Given the description of an element on the screen output the (x, y) to click on. 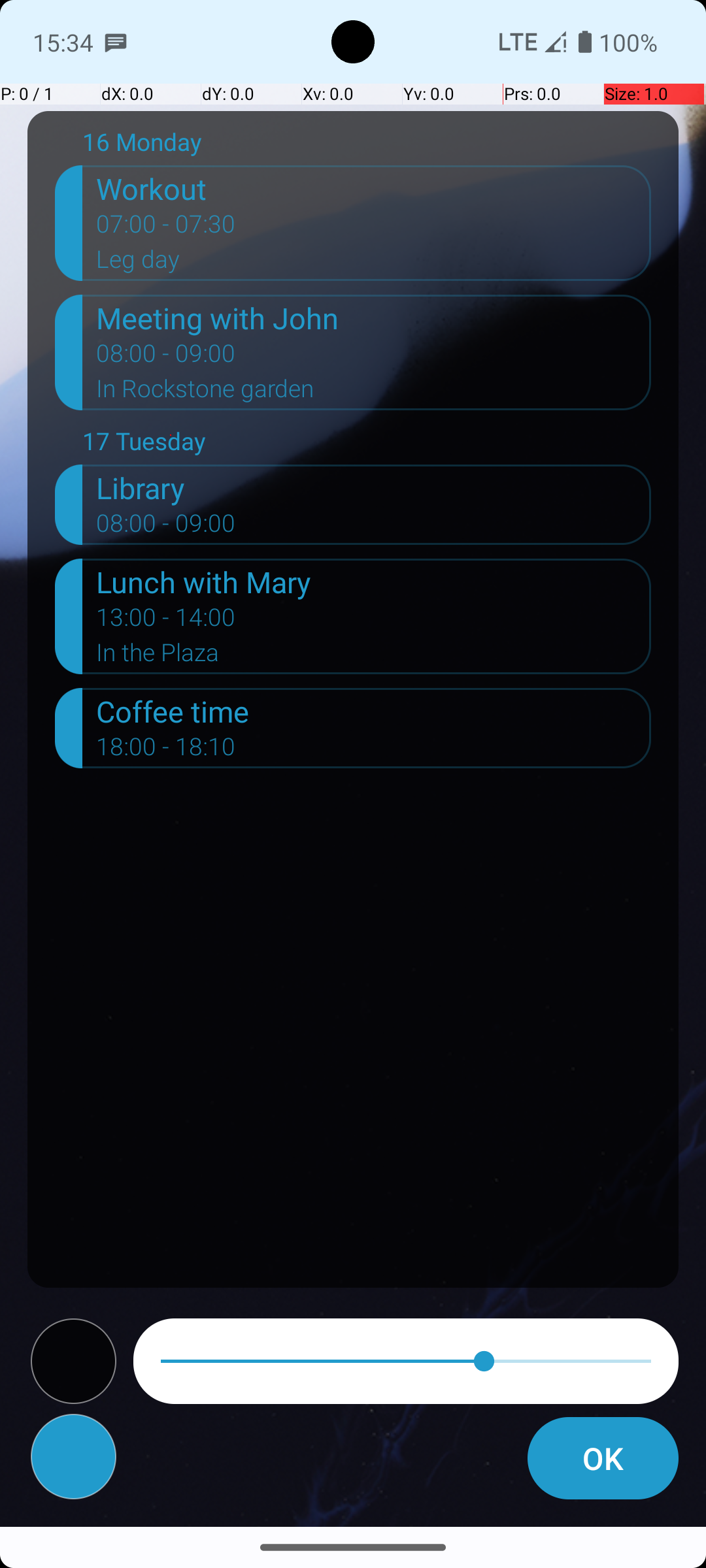
Workout Element type: android.widget.TextView (373, 187)
07:00 - 07:30 Element type: android.widget.TextView (165, 227)
Leg day Element type: android.widget.TextView (373, 262)
Meeting with John Element type: android.widget.TextView (373, 316)
08:00 - 09:00 Element type: android.widget.TextView (165, 357)
In Rockstone garden Element type: android.widget.TextView (373, 392)
Lunch with Mary Element type: android.widget.TextView (373, 580)
13:00 - 14:00 Element type: android.widget.TextView (165, 620)
In the Plaza Element type: android.widget.TextView (373, 656)
Coffee time Element type: android.widget.TextView (373, 710)
18:00 - 18:10 Element type: android.widget.TextView (165, 750)
